Given the description of an element on the screen output the (x, y) to click on. 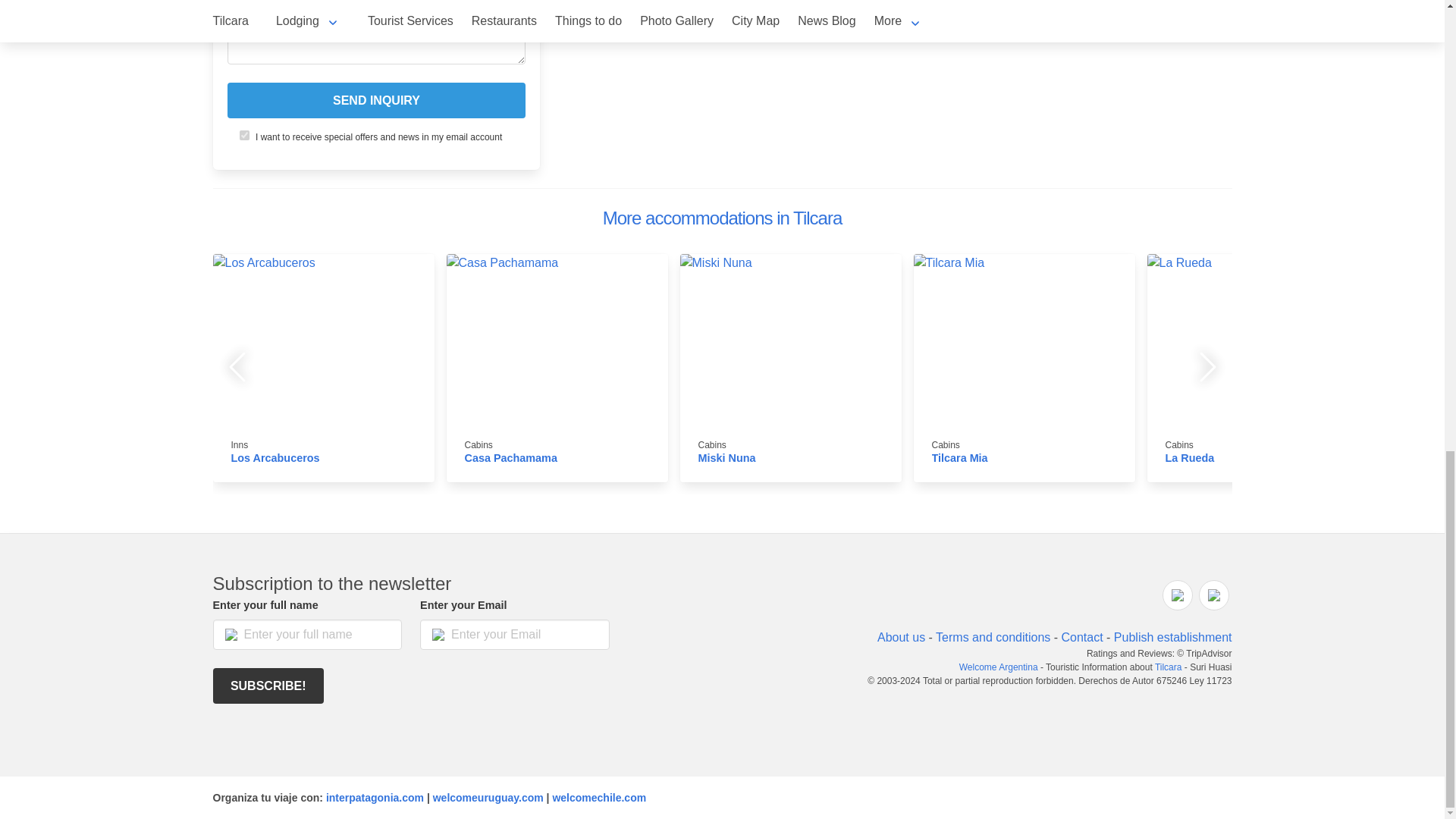
1 (244, 135)
More accommodations in Tilcara (721, 218)
Send inquiry (376, 99)
Casa Pachamama (510, 458)
Send inquiry (376, 99)
Los Arcabuceros (274, 458)
